Given the description of an element on the screen output the (x, y) to click on. 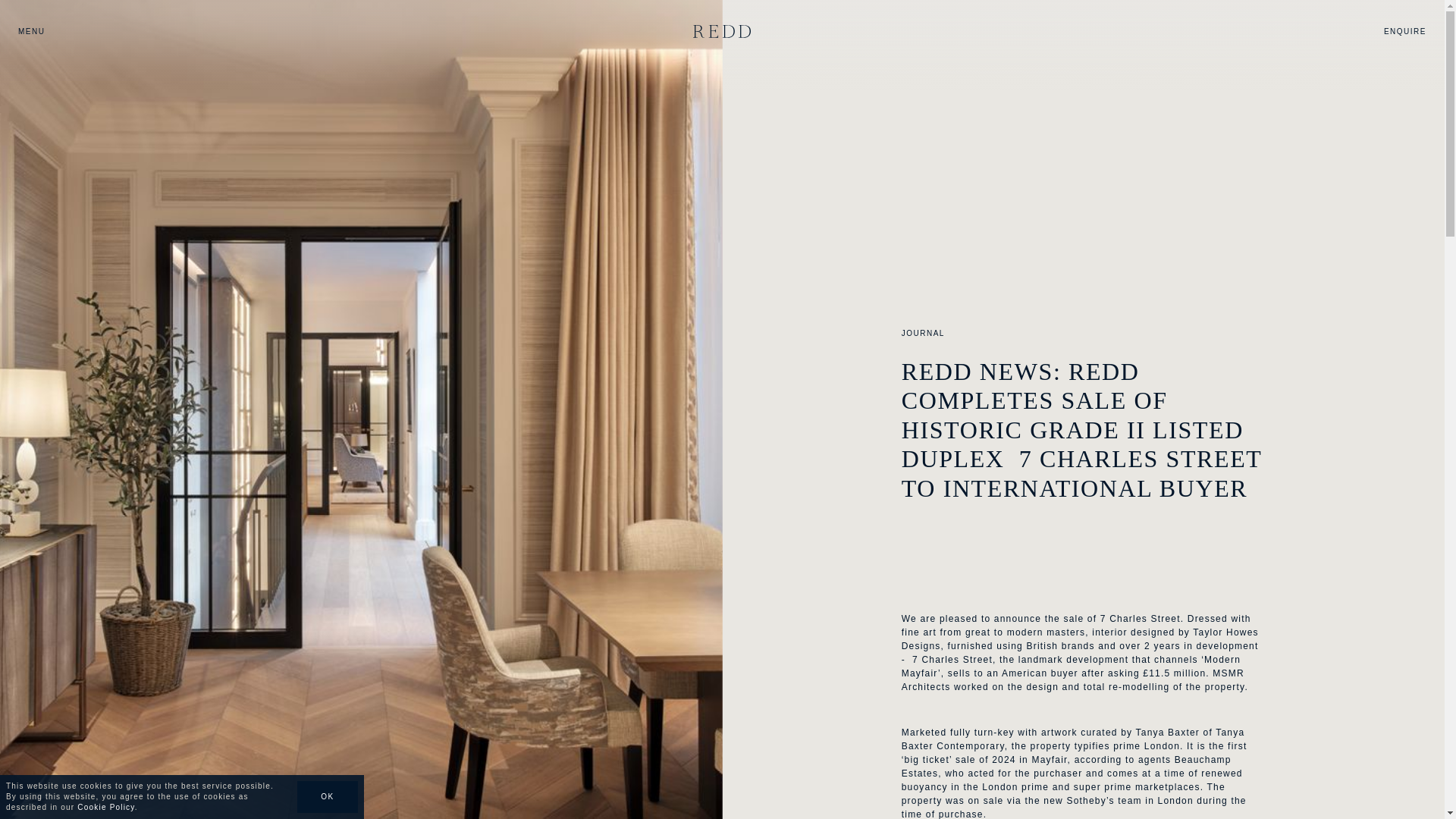
OK (327, 797)
JOURNAL (922, 333)
Cookie Policy (105, 807)
ENQUIRE (1405, 30)
MENU (31, 30)
